Given the description of an element on the screen output the (x, y) to click on. 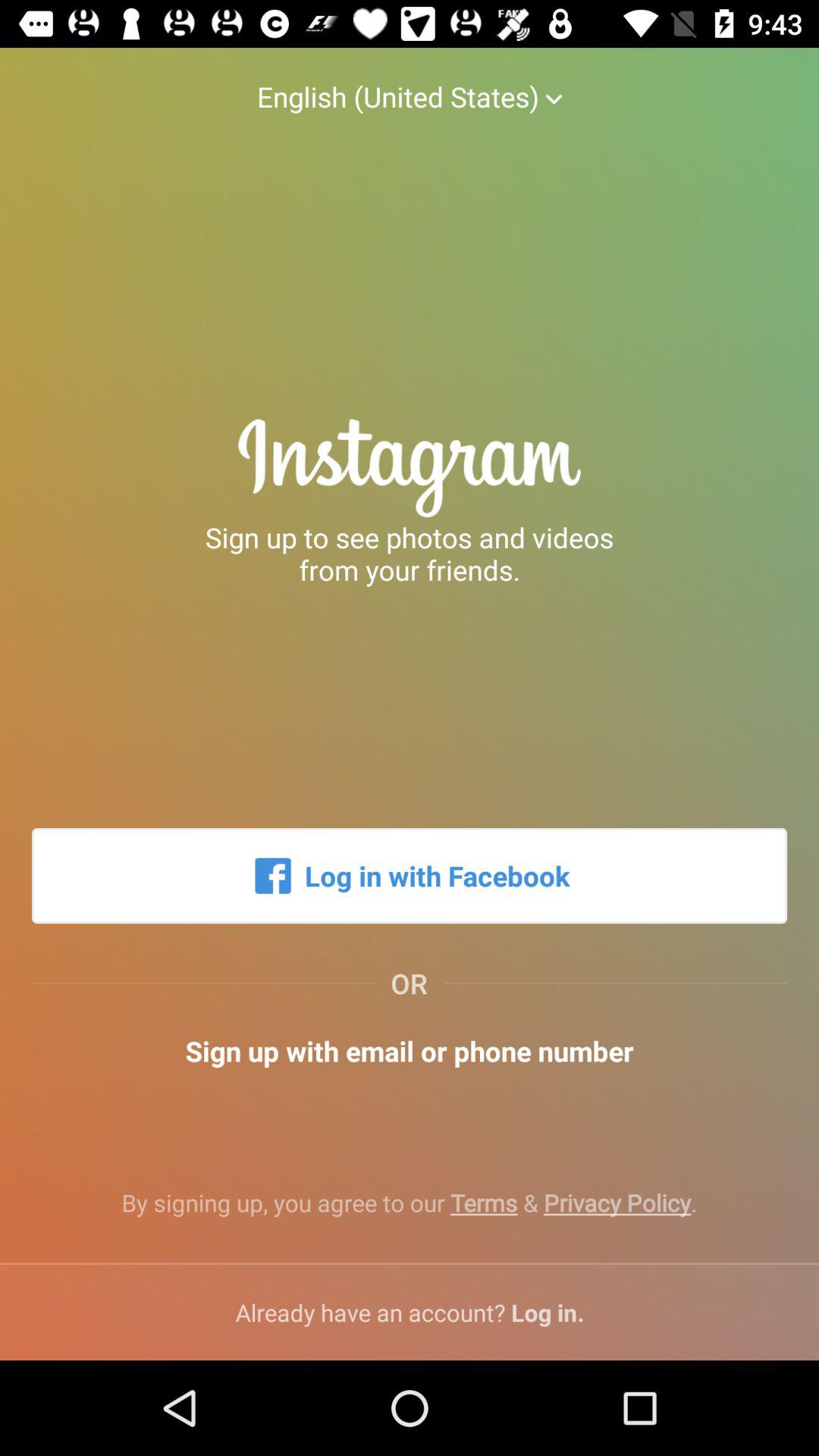
tap already have an icon (409, 1312)
